Given the description of an element on the screen output the (x, y) to click on. 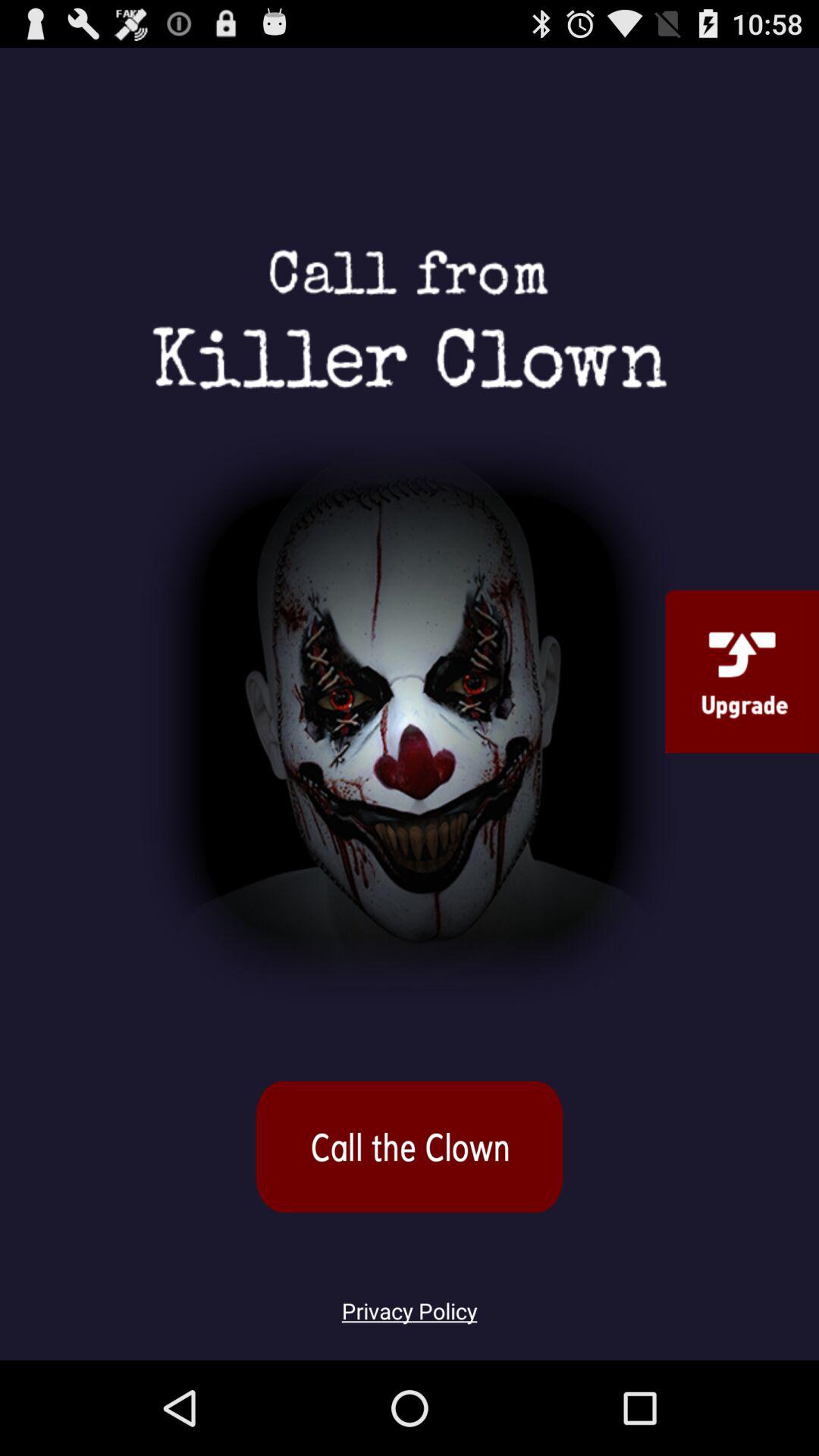
upgrade killer clown (742, 671)
